Given the description of an element on the screen output the (x, y) to click on. 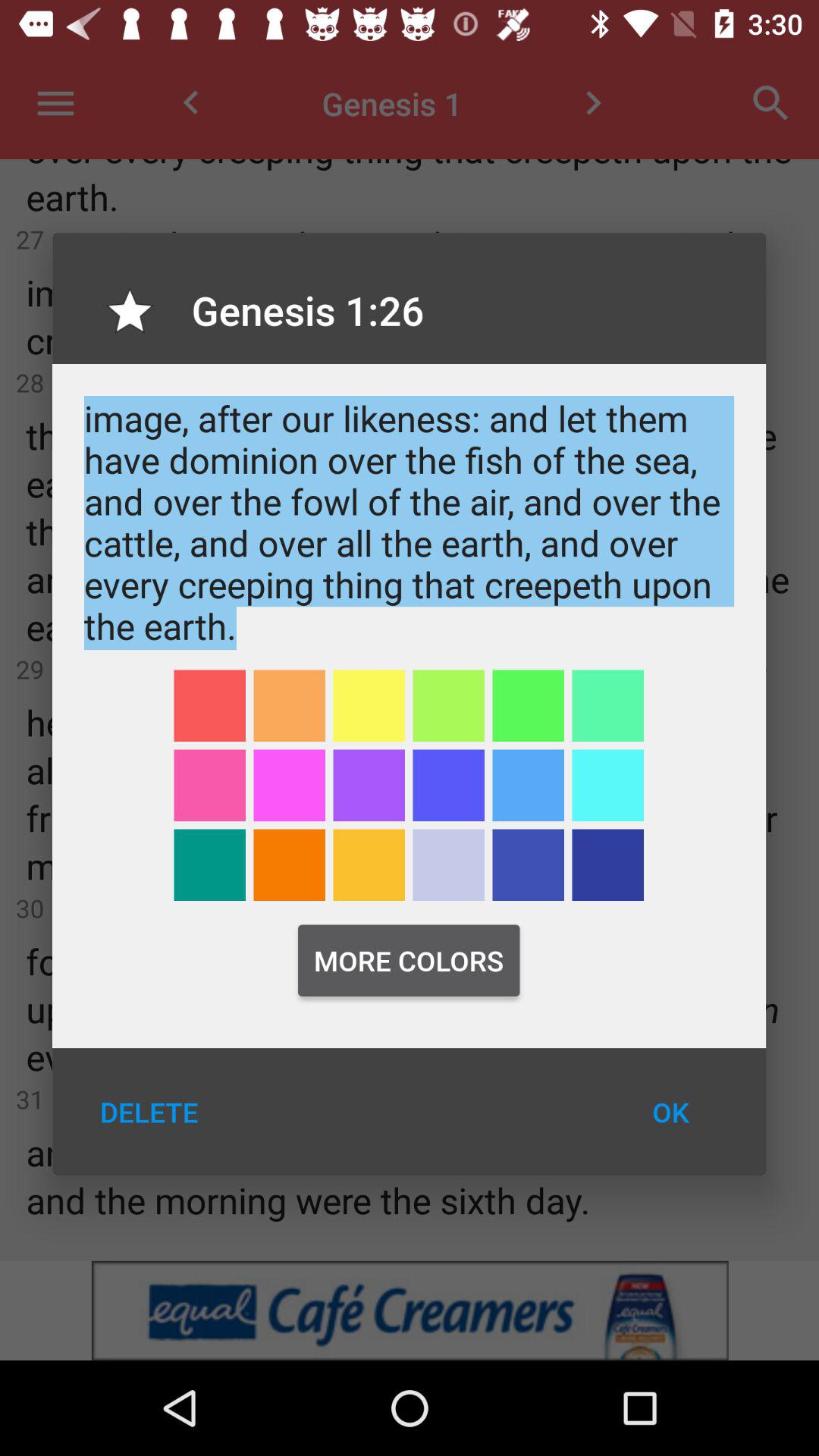
open icon at the bottom right corner (670, 1111)
